Given the description of an element on the screen output the (x, y) to click on. 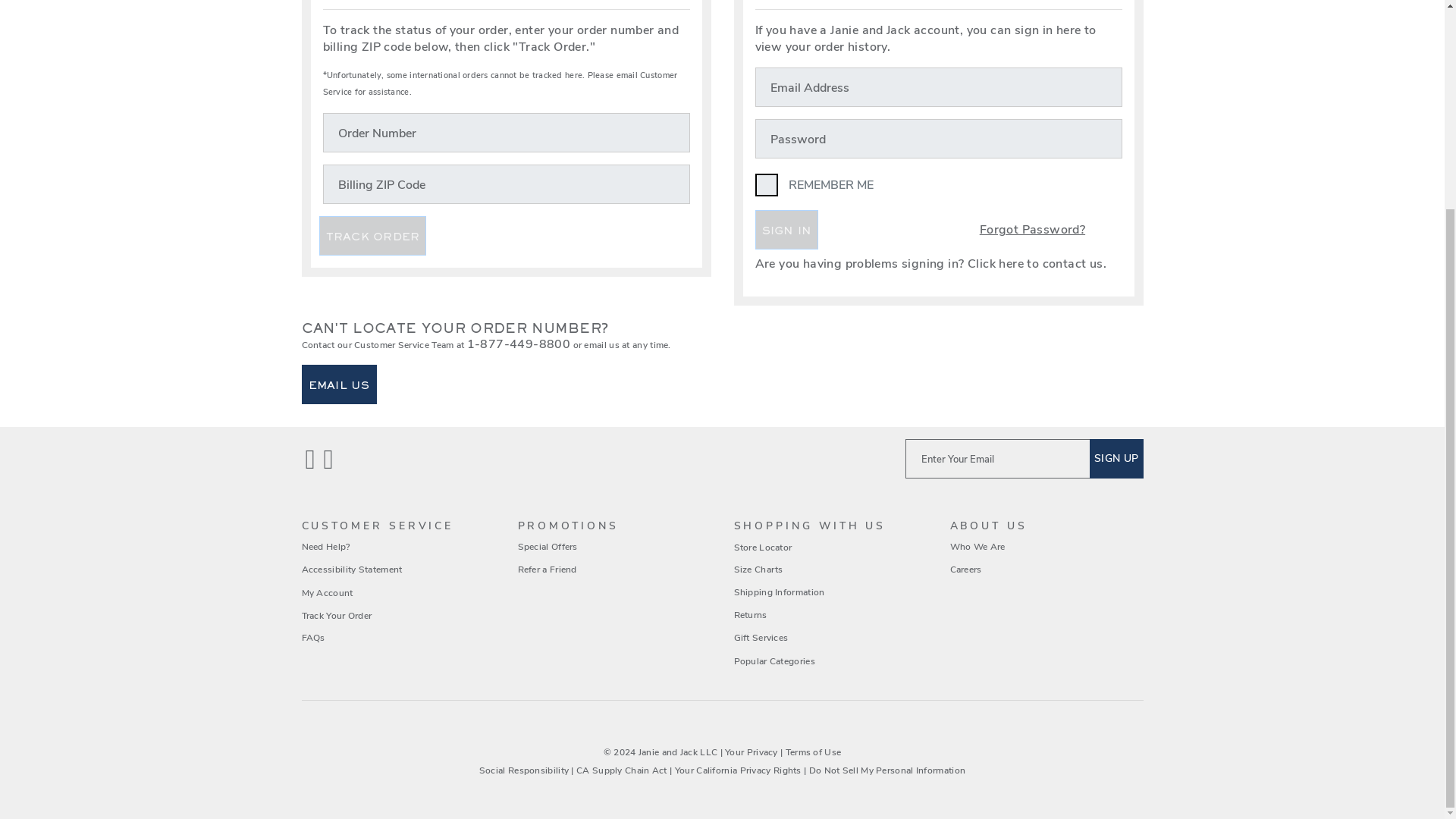
Do Not Sell My Personal Information (887, 770)
click to call us (518, 343)
Your California Privacy Rights (738, 770)
CA Supply Chain Act (621, 770)
forgot password? (1010, 229)
Your Privacy (751, 752)
Terms of Use (813, 752)
Social Responsibility  (525, 770)
